Given the description of an element on the screen output the (x, y) to click on. 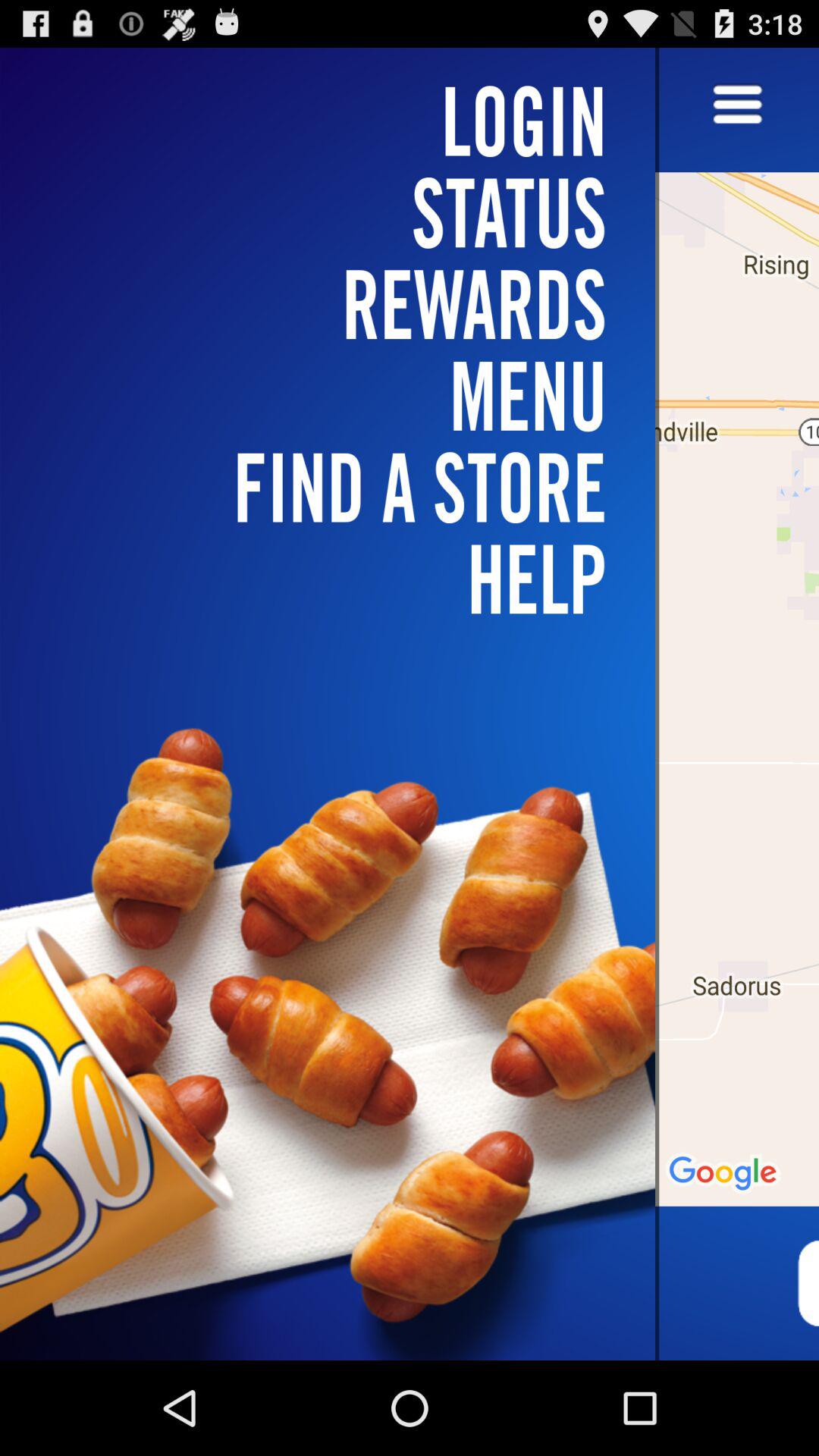
click the item at the top right corner (737, 105)
